Given the description of an element on the screen output the (x, y) to click on. 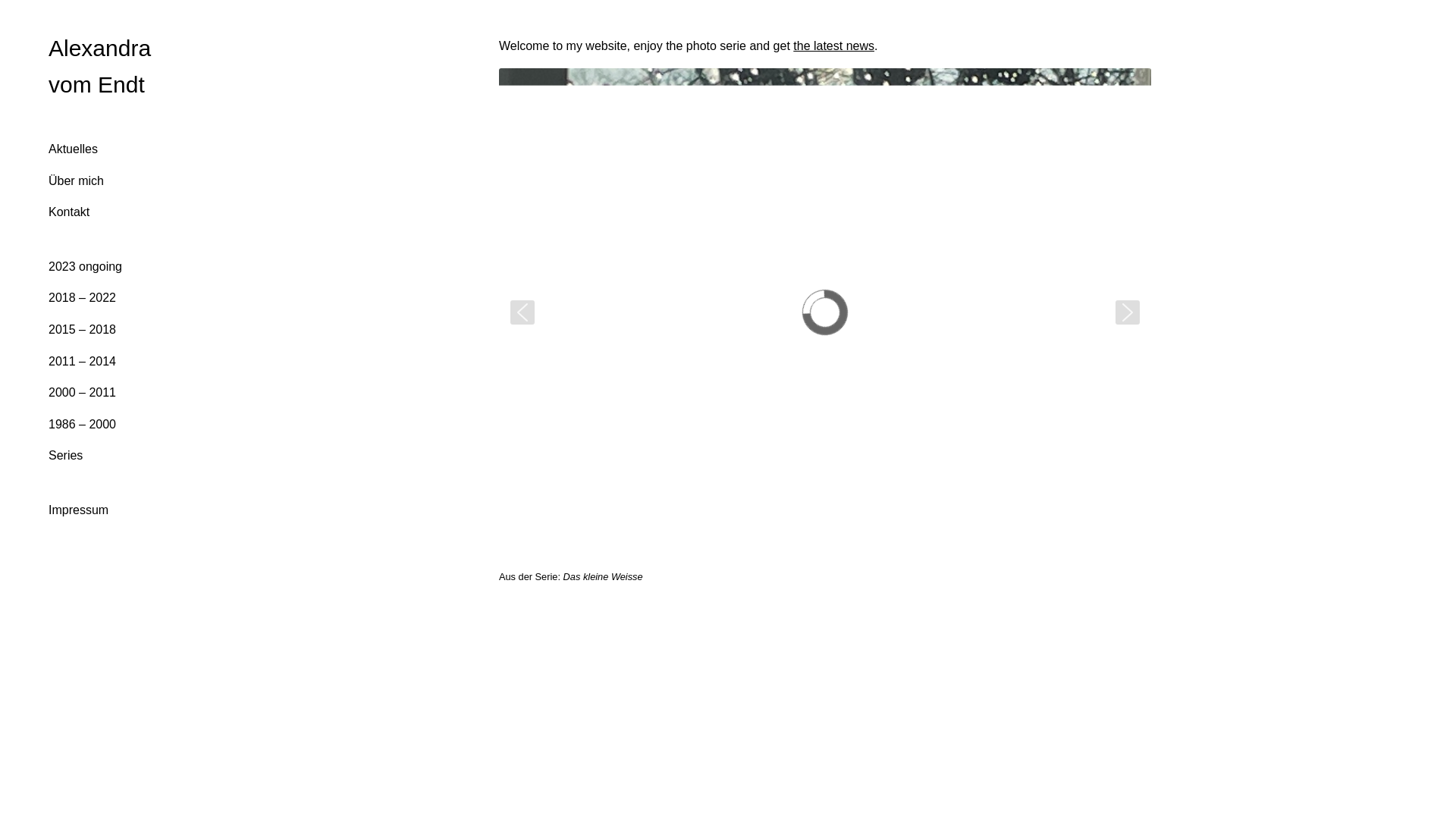
2023 ongoing Element type: text (85, 266)
Kontakt Element type: text (68, 212)
Impressum Element type: text (78, 510)
the latest news Element type: text (833, 45)
Aktuelles Element type: text (72, 149)
Alexandra
vom Endt Element type: text (99, 66)
Series Element type: text (65, 455)
